Given the description of an element on the screen output the (x, y) to click on. 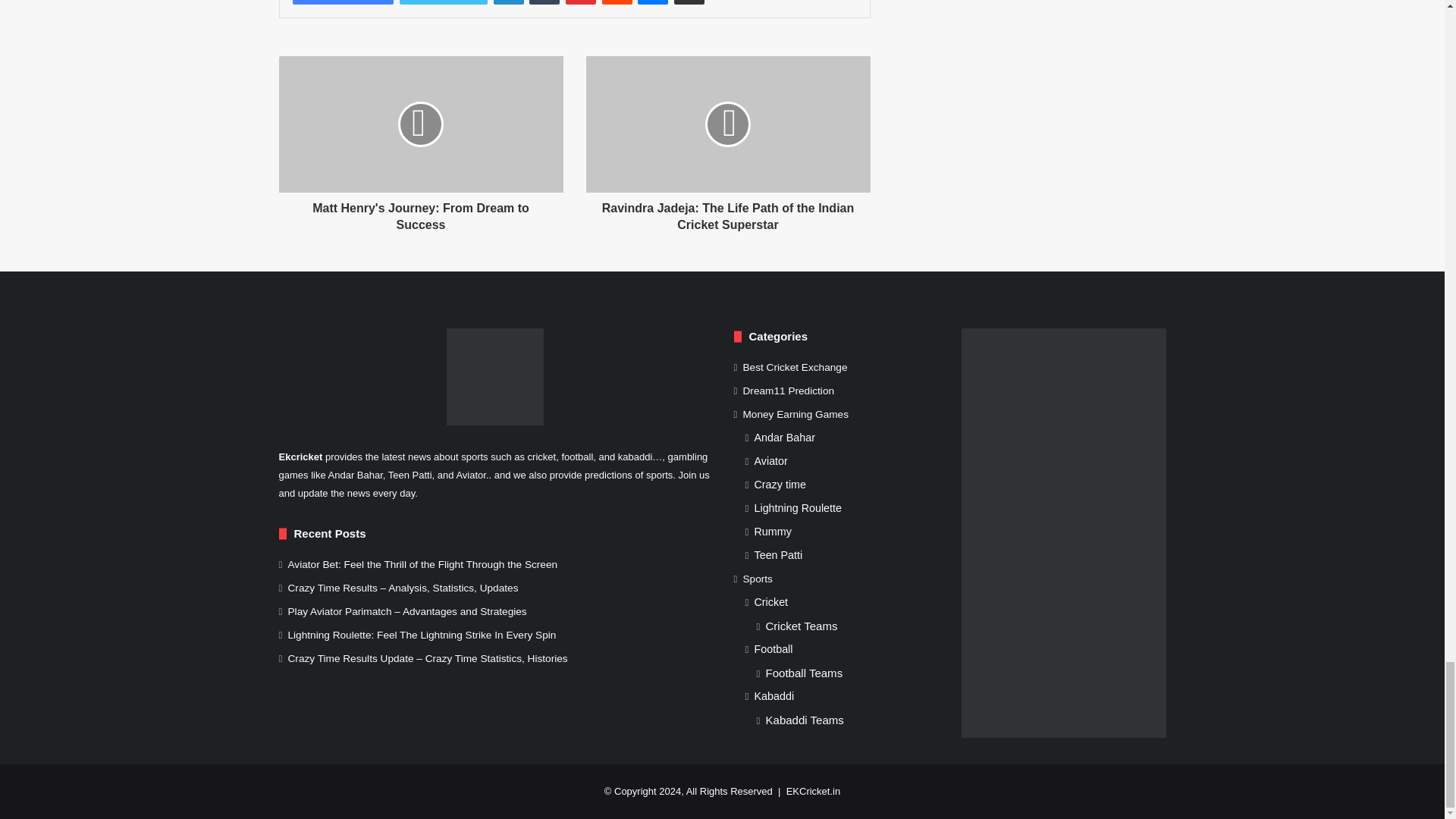
Facebook (343, 2)
Tumblr (544, 2)
Pinterest (580, 2)
Reddit (616, 2)
LinkedIn (508, 2)
Messenger (652, 2)
Twitter (442, 2)
